Given the description of an element on the screen output the (x, y) to click on. 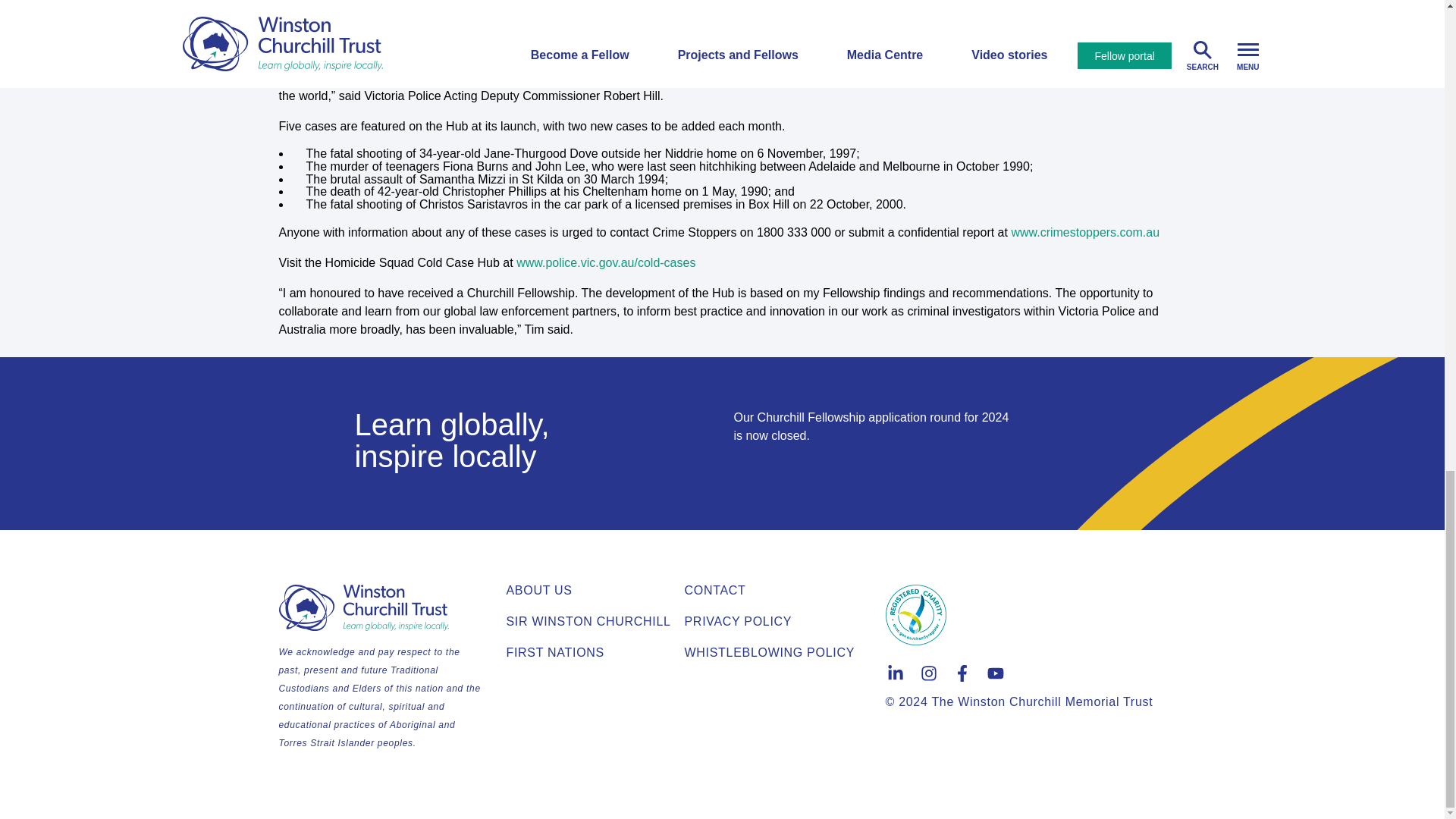
SIR WINSTON CHURCHILL (588, 621)
CONTACT (714, 590)
ABOUT US (539, 590)
www.crimestoppers.com.au (1084, 232)
PRIVACY POLICY (738, 621)
